Given the description of an element on the screen output the (x, y) to click on. 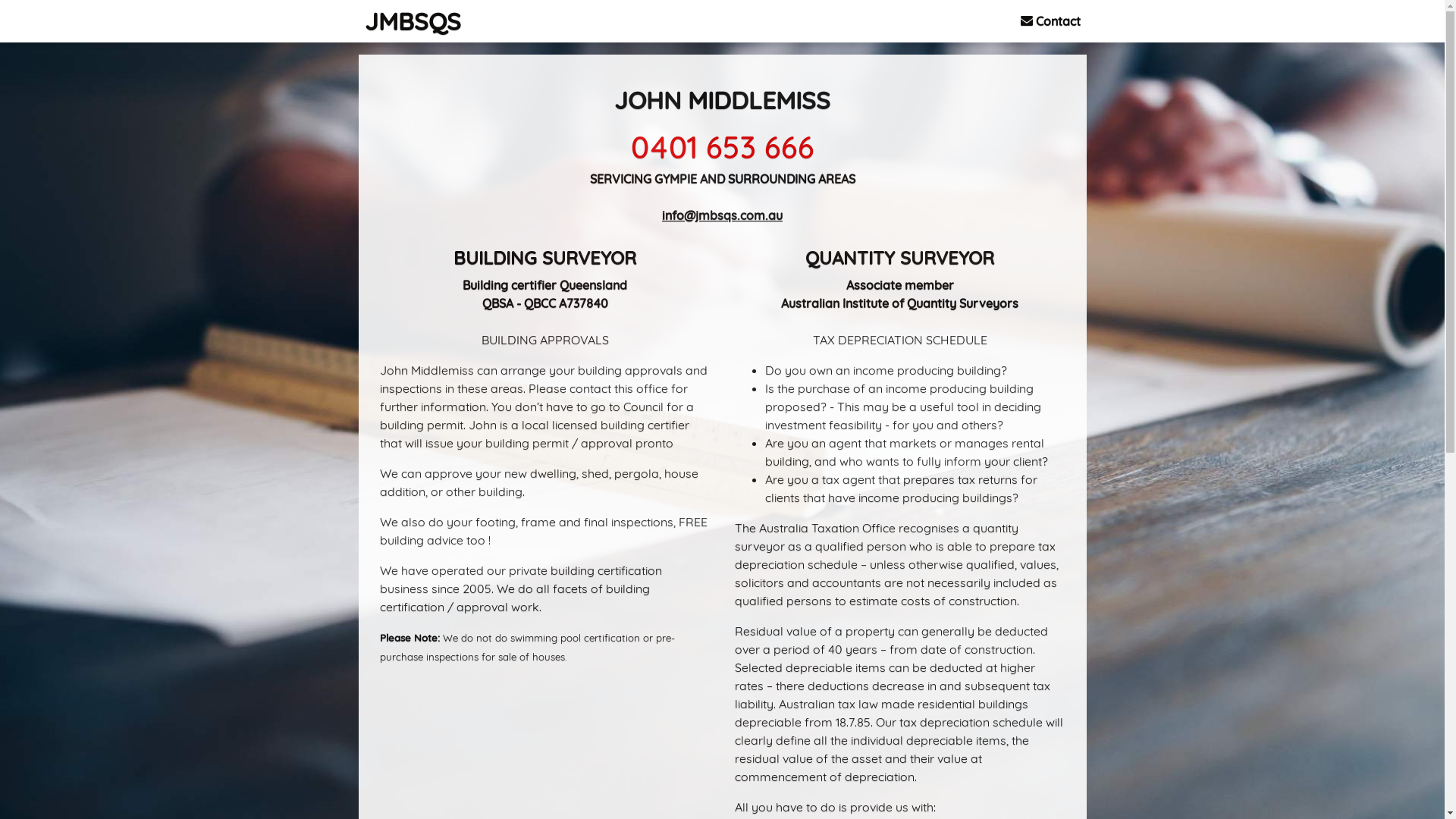
Contact Element type: text (1050, 21)
info@jmbsqs.com.au Element type: text (722, 214)
JMBSQS Element type: text (412, 21)
